Given the description of an element on the screen output the (x, y) to click on. 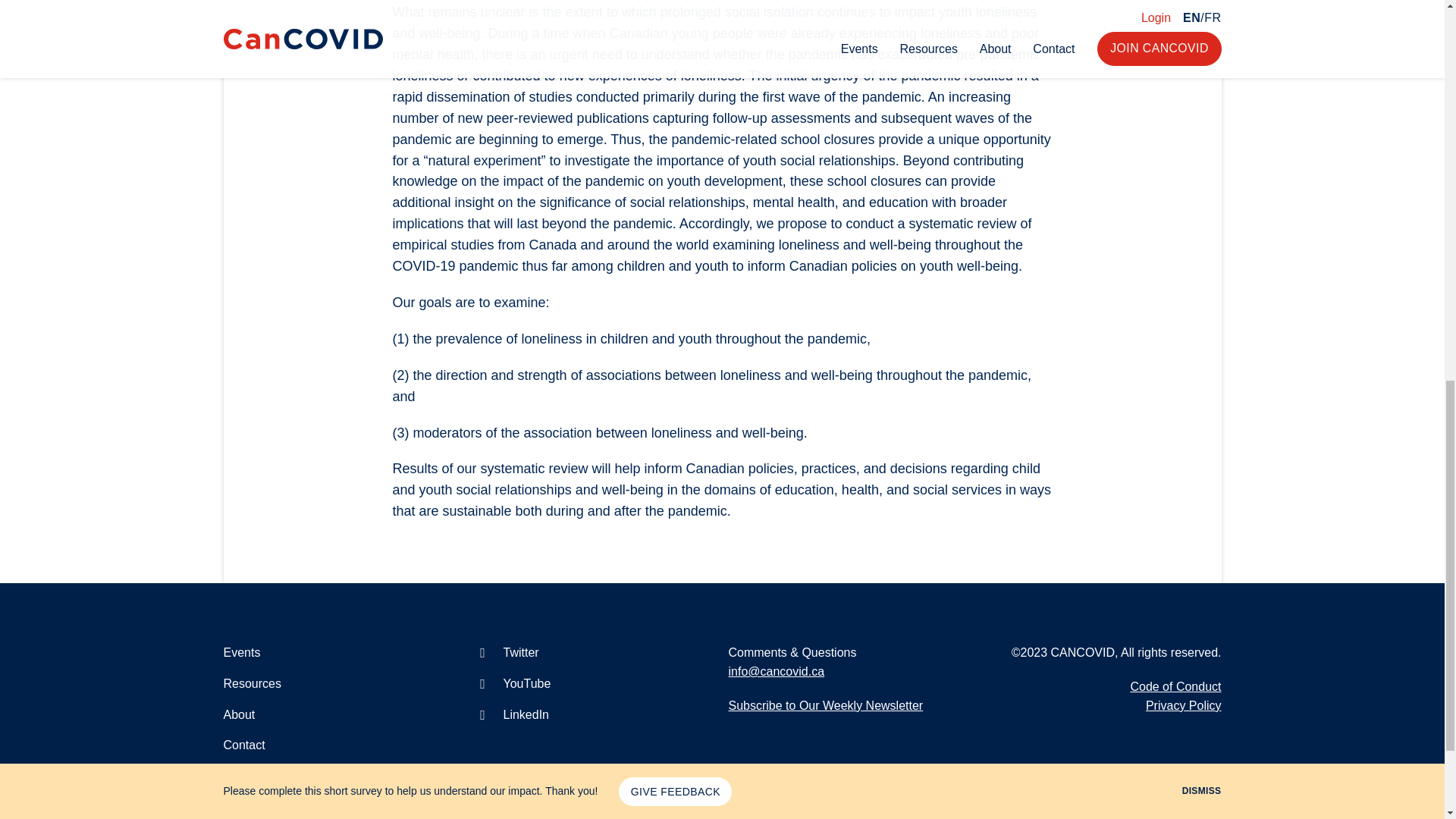
YouTube (513, 683)
About (238, 714)
Contact (243, 744)
Subscribe to Our Weekly Newsletter (825, 705)
Resources (251, 683)
Events (241, 652)
Privacy Policy (1183, 705)
LinkedIn (513, 714)
Code of Conduct (1175, 686)
Twitter (507, 652)
